Given the description of an element on the screen output the (x, y) to click on. 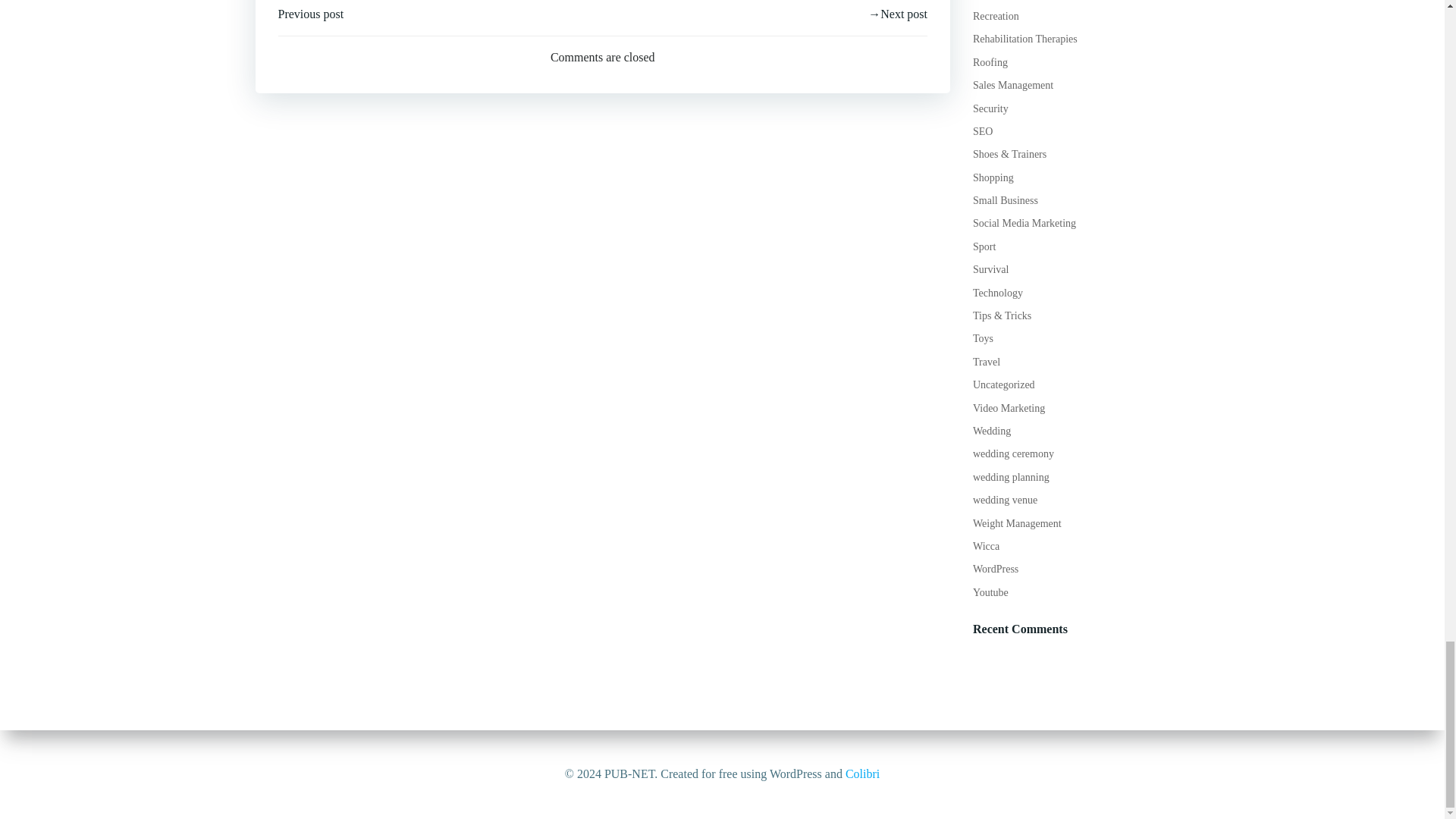
Next post (897, 13)
Previous post (310, 13)
